Given the description of an element on the screen output the (x, y) to click on. 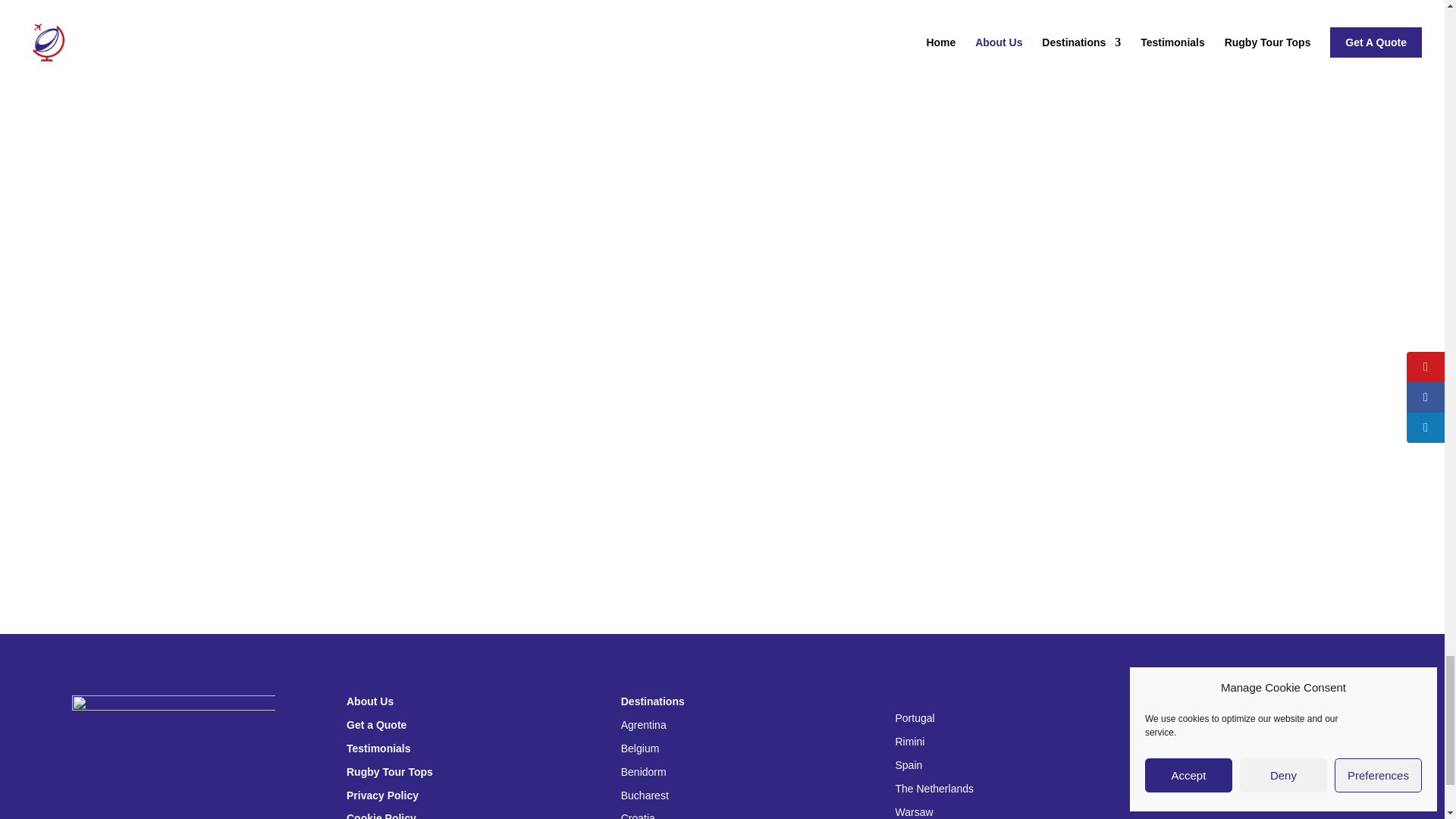
Follow on Pinterest (1272, 793)
Follow on Instagram (1211, 793)
Follow on Facebook (1181, 793)
TRM01-Logo-StrapWO-AW (173, 757)
Follow on LinkedIn (1241, 793)
